Given the description of an element on the screen output the (x, y) to click on. 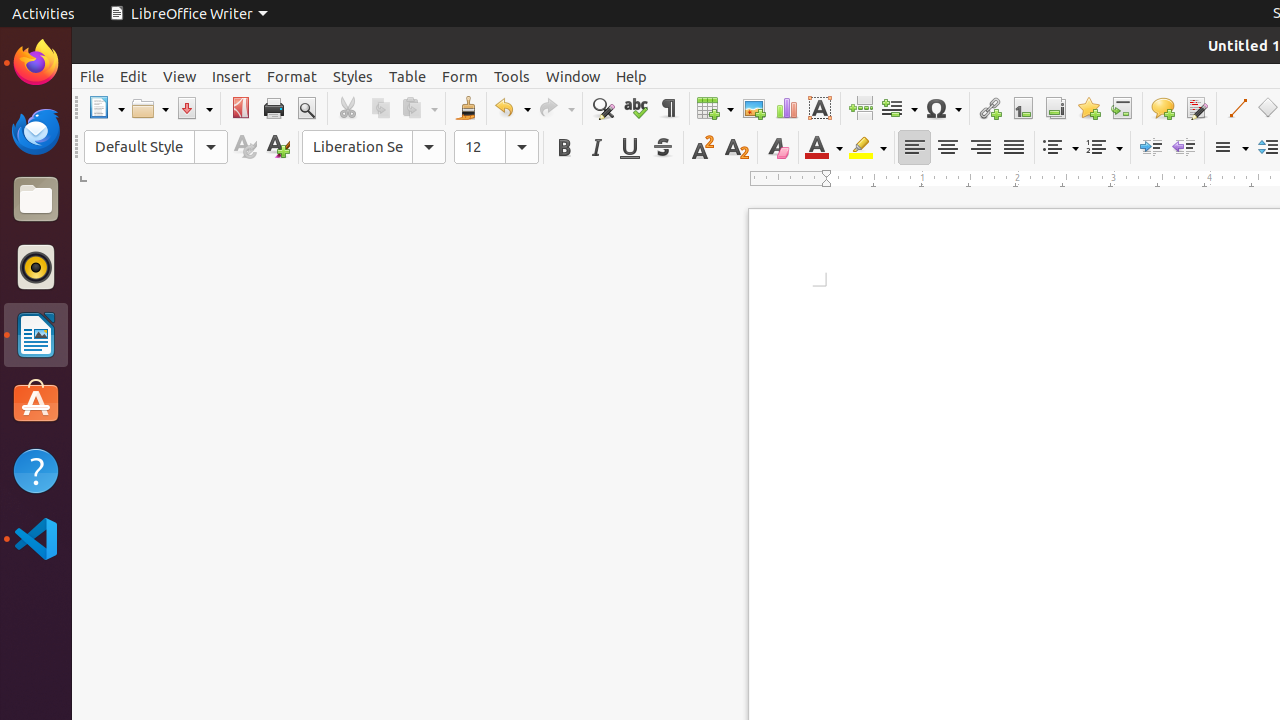
Save Element type: push-button (194, 108)
Bold Element type: toggle-button (563, 147)
Subscript Element type: toggle-button (736, 147)
Font Size Element type: combo-box (496, 147)
Update Element type: push-button (244, 147)
